Given the description of an element on the screen output the (x, y) to click on. 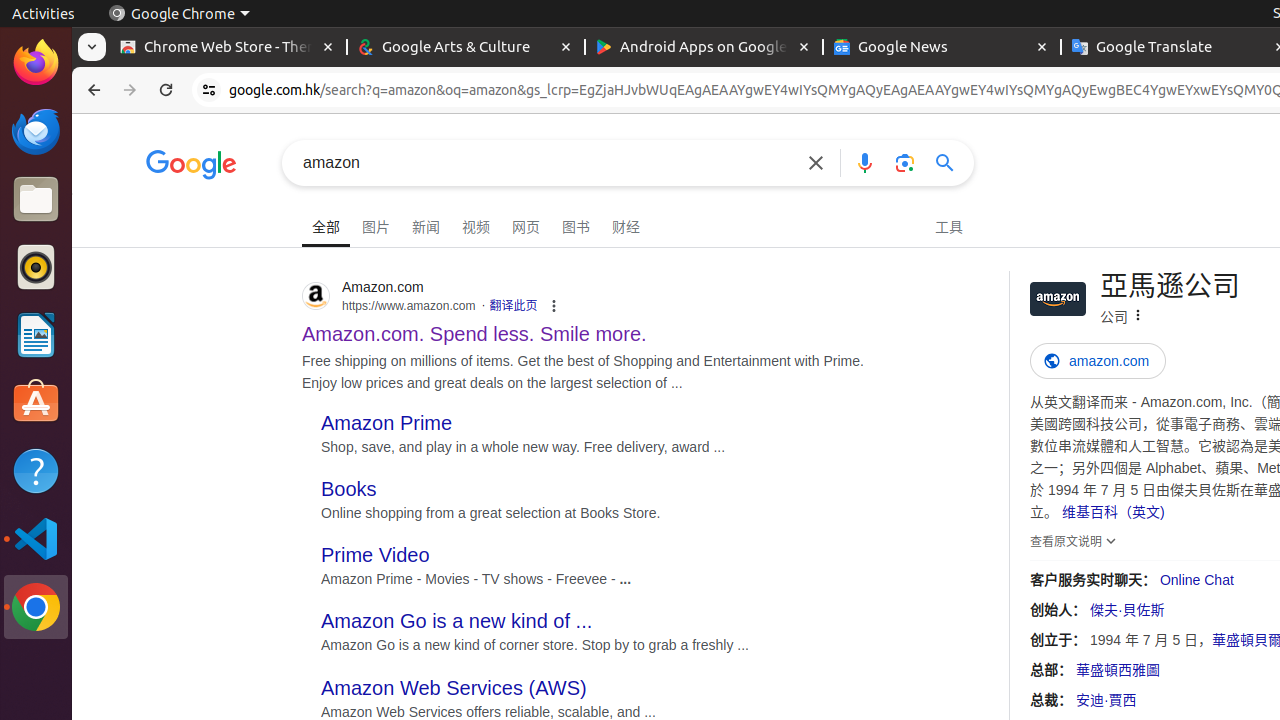
Google News - Memory usage - 49.3 MB Element type: page-tab (942, 47)
Files Element type: push-button (36, 199)
View site information Element type: push-button (209, 90)
Amazon Web Services (AWS) Element type: link (454, 687)
傑夫·貝佐斯 Element type: link (1127, 610)
